Given the description of an element on the screen output the (x, y) to click on. 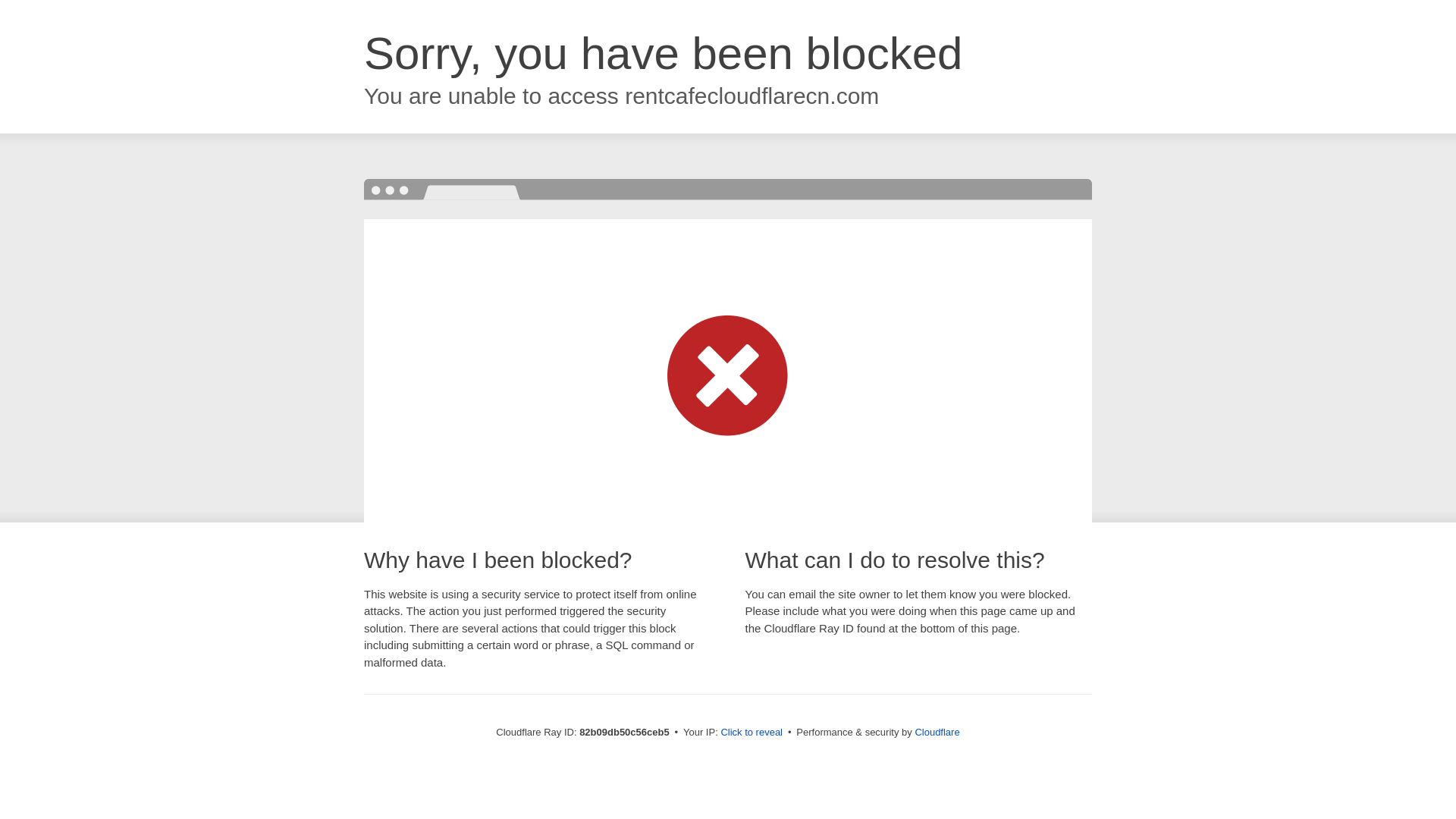
Click to reveal Element type: text (751, 732)
Cloudflare Element type: text (936, 731)
